Given the description of an element on the screen output the (x, y) to click on. 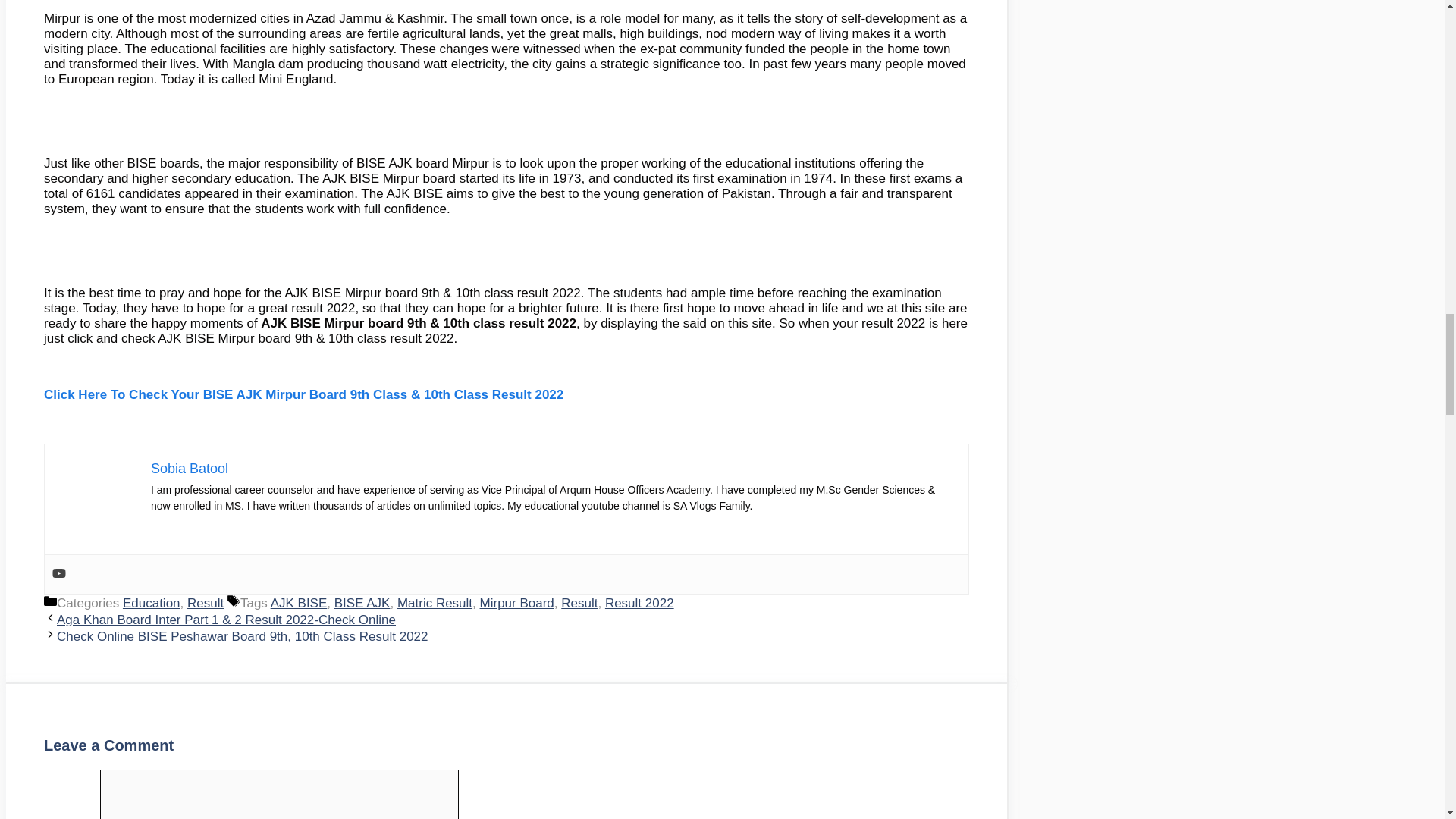
Education (151, 603)
Sobia Batool (189, 468)
Youtube (58, 574)
